Given the description of an element on the screen output the (x, y) to click on. 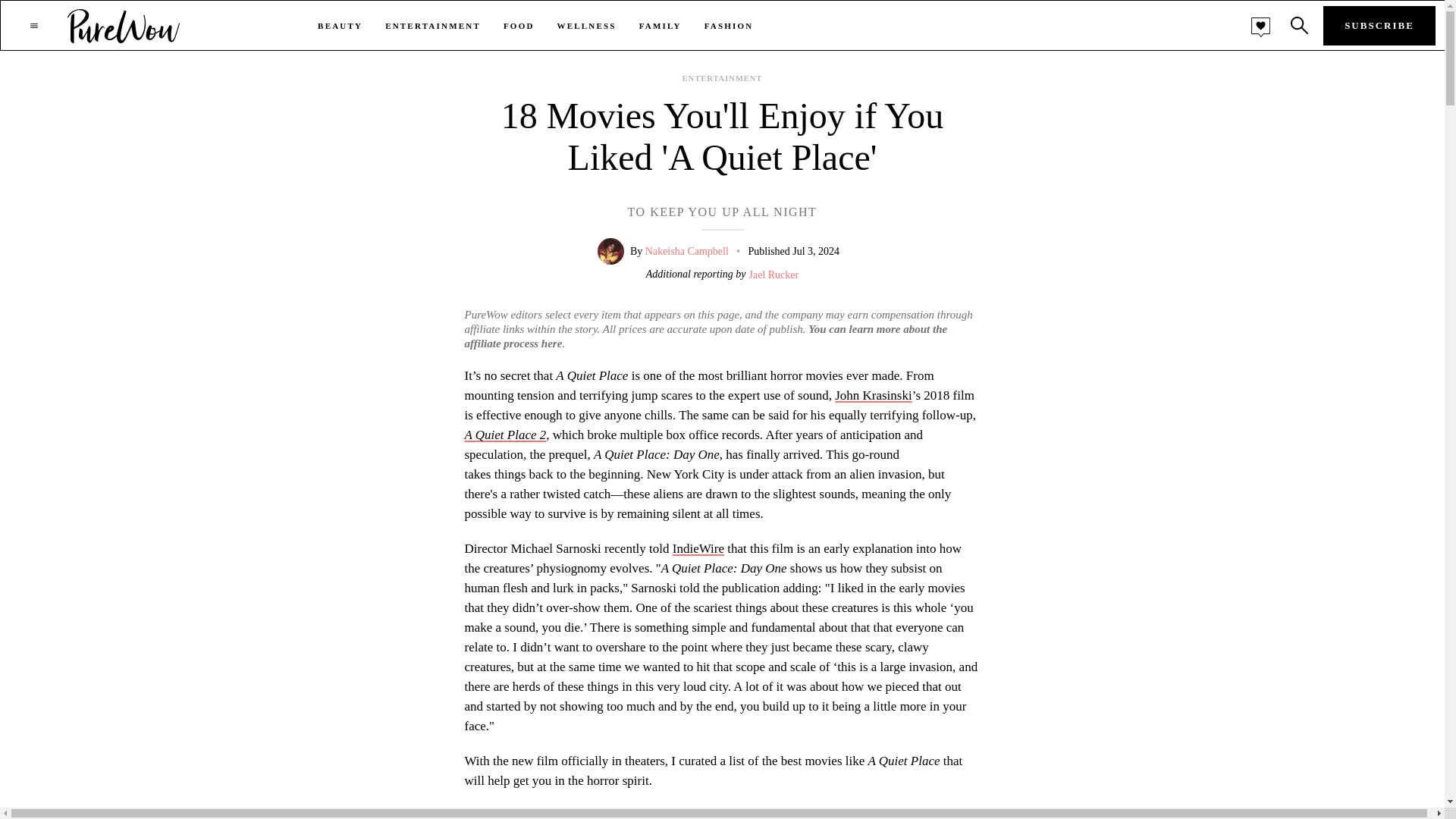
Nakeisha Campbell (687, 251)
BEAUTY (339, 25)
PureWow (123, 25)
WELLNESS (586, 25)
FAMILY (660, 25)
FOOD (518, 25)
Jael Rucker (774, 277)
FASHION (729, 25)
ENTERTAINMENT (722, 78)
ENTERTAINMENT (432, 25)
